Given the description of an element on the screen output the (x, y) to click on. 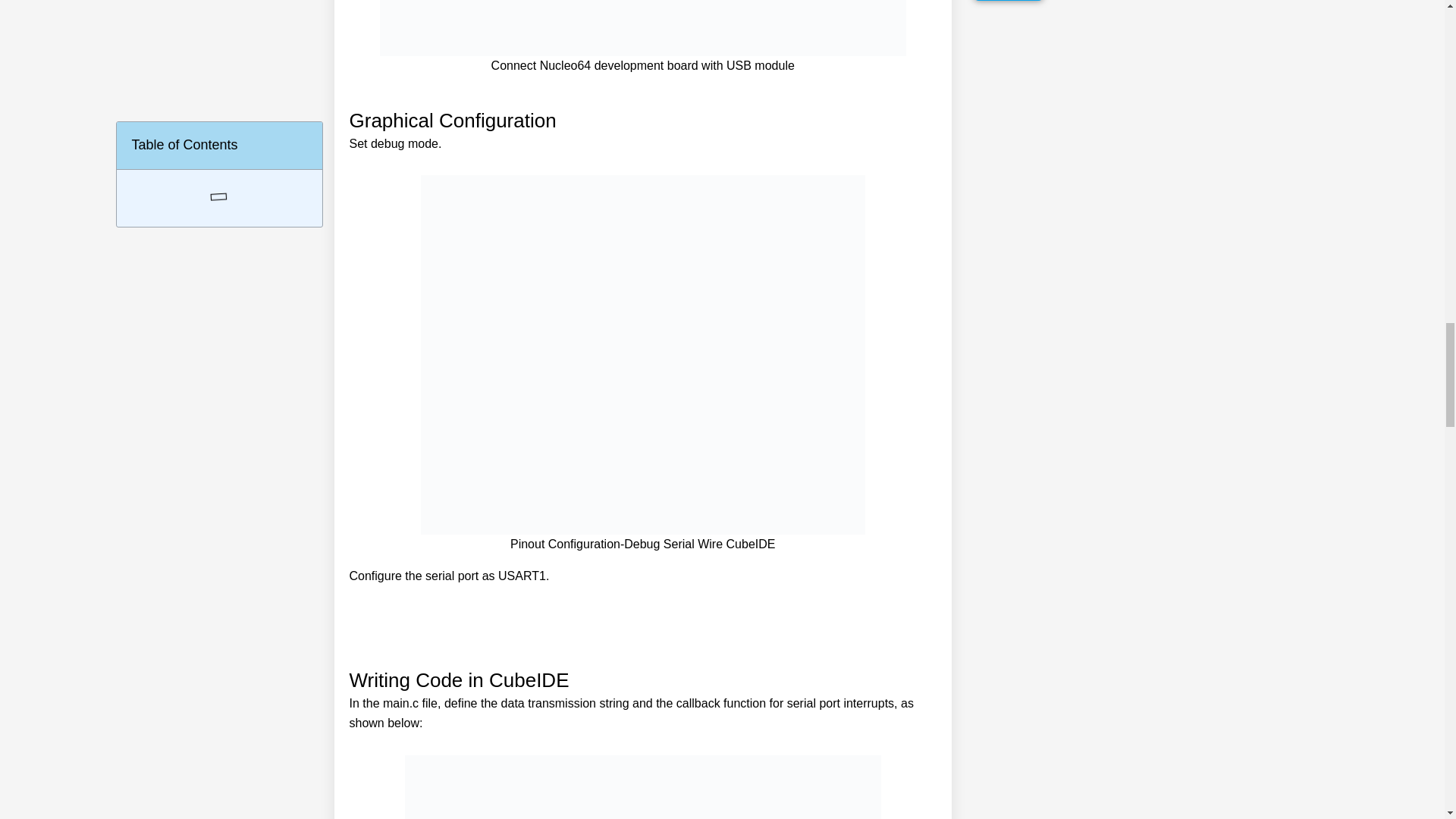
STM32 Nucleo Development Boards 18 (642, 787)
STM32 Nucleo Development Boards 16 (641, 28)
